Given the description of an element on the screen output the (x, y) to click on. 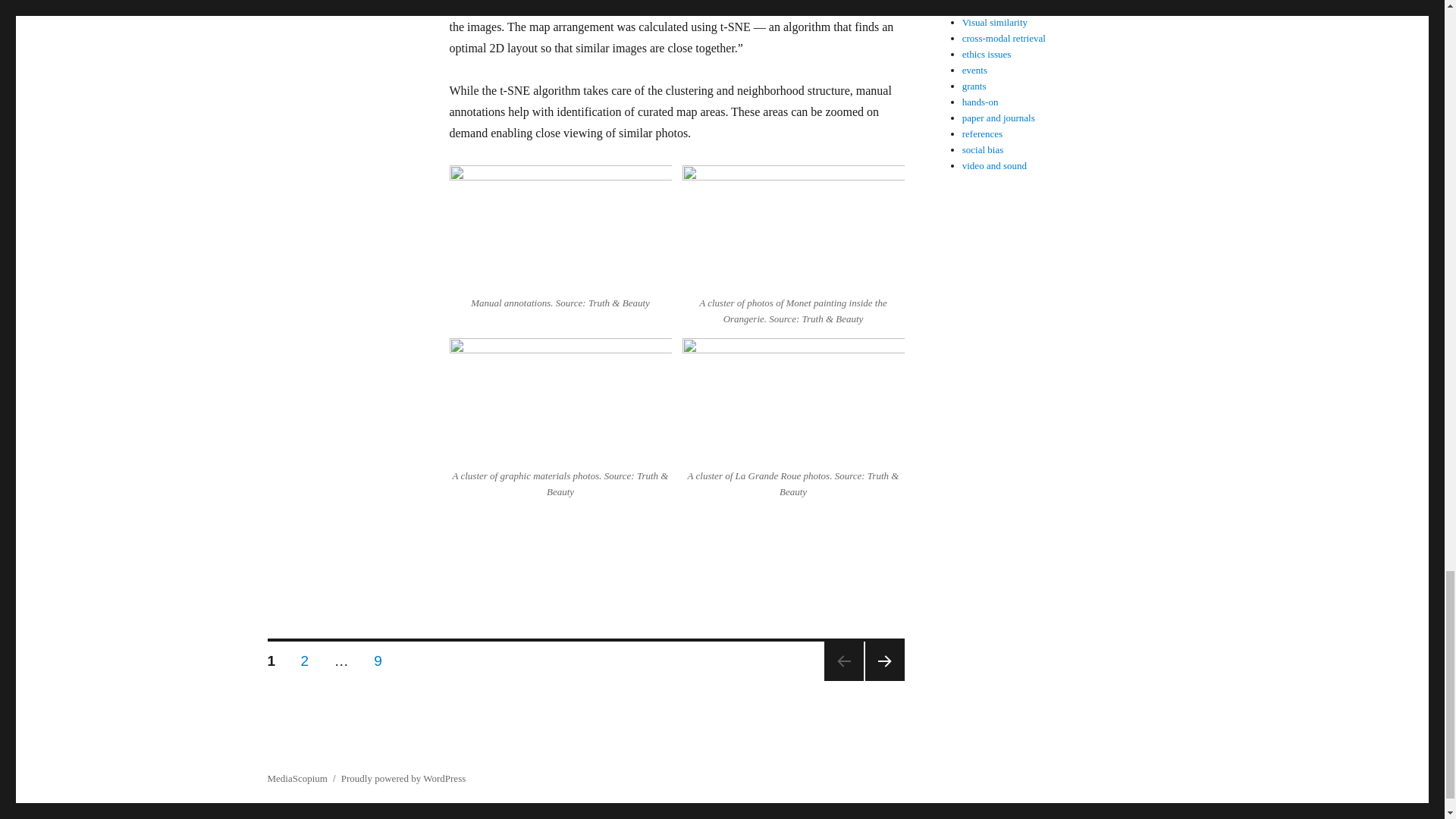
NEXT PAGE (304, 657)
